Given the description of an element on the screen output the (x, y) to click on. 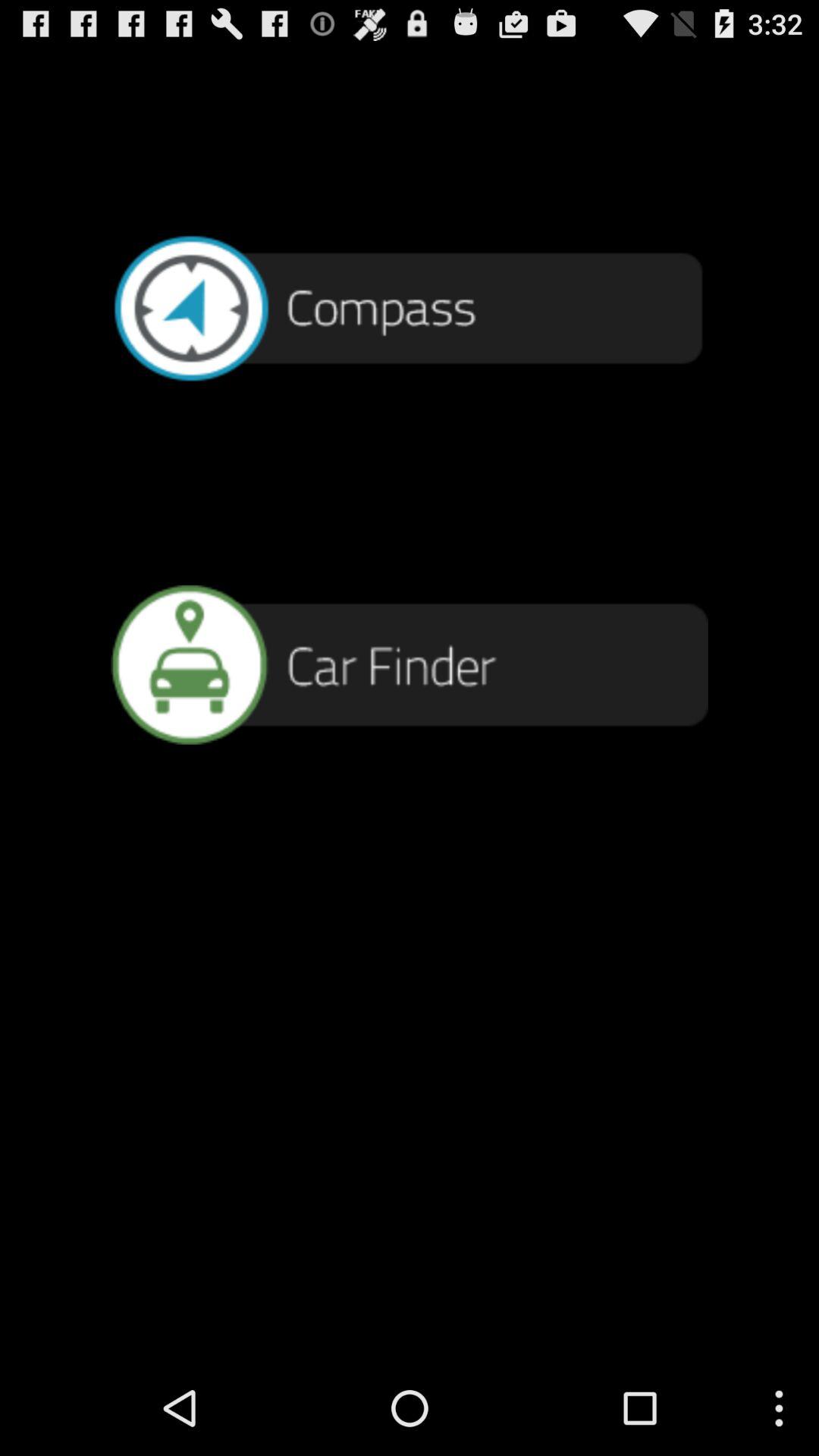
open compass (409, 306)
